Given the description of an element on the screen output the (x, y) to click on. 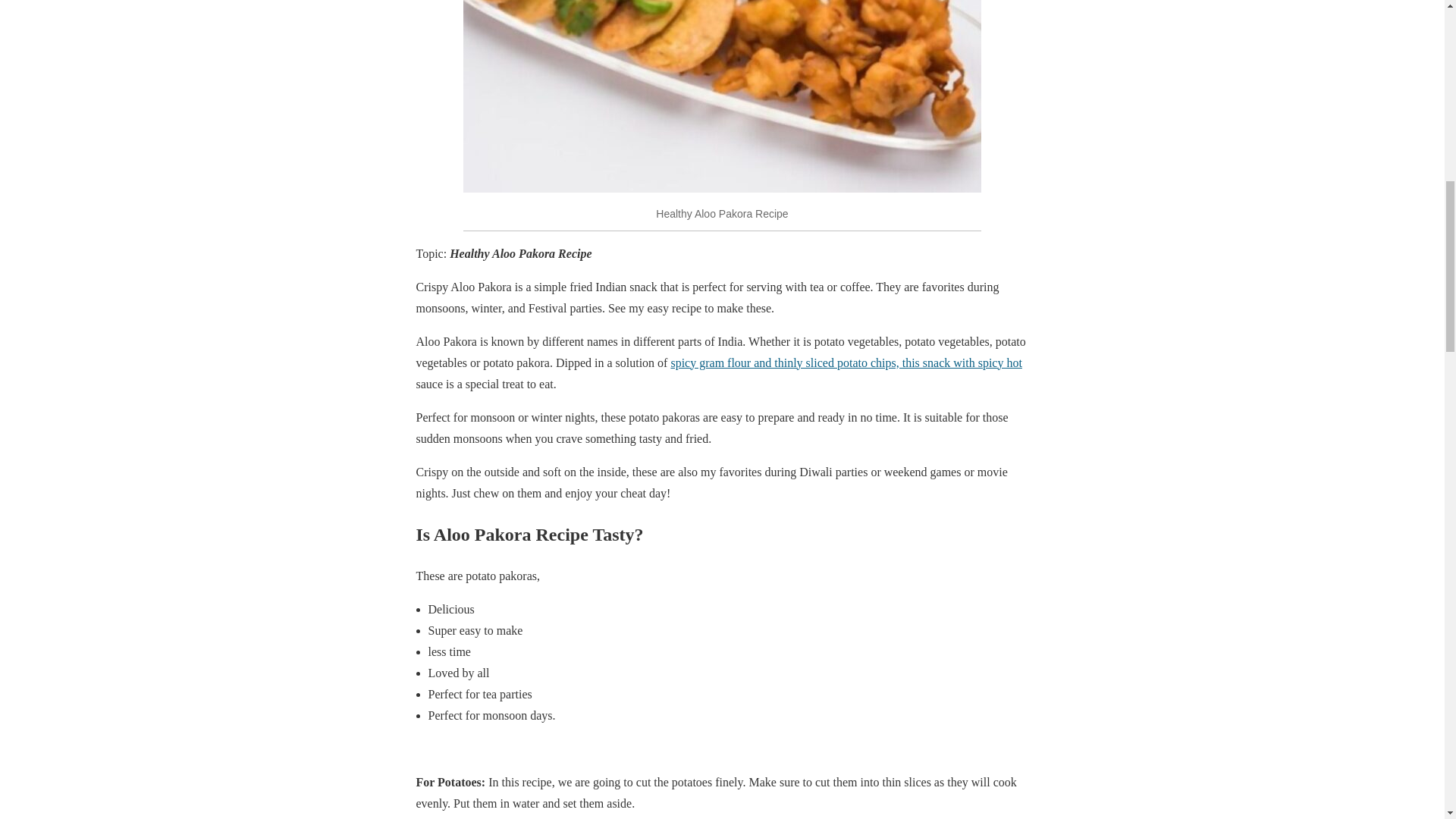
Healthy Aloo Pakora Recipe 1 (722, 96)
